Given the description of an element on the screen output the (x, y) to click on. 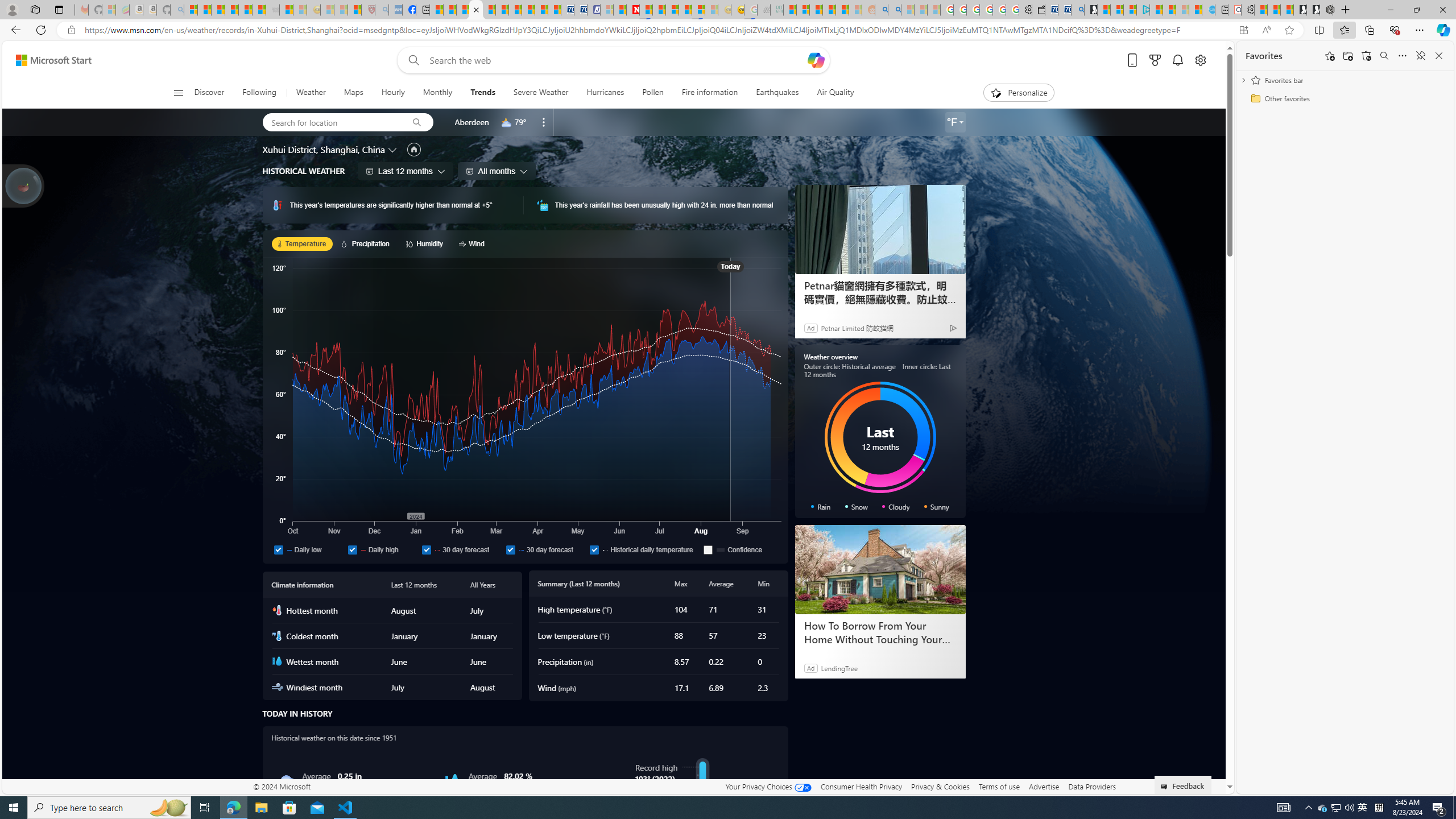
Your Privacy Choices (767, 785)
Historical daily temperature (643, 549)
30 day forecast (545, 549)
Hurricanes (605, 92)
Add this page to favorites (1330, 55)
Weather settings (954, 122)
Search for location (330, 122)
